Given the description of an element on the screen output the (x, y) to click on. 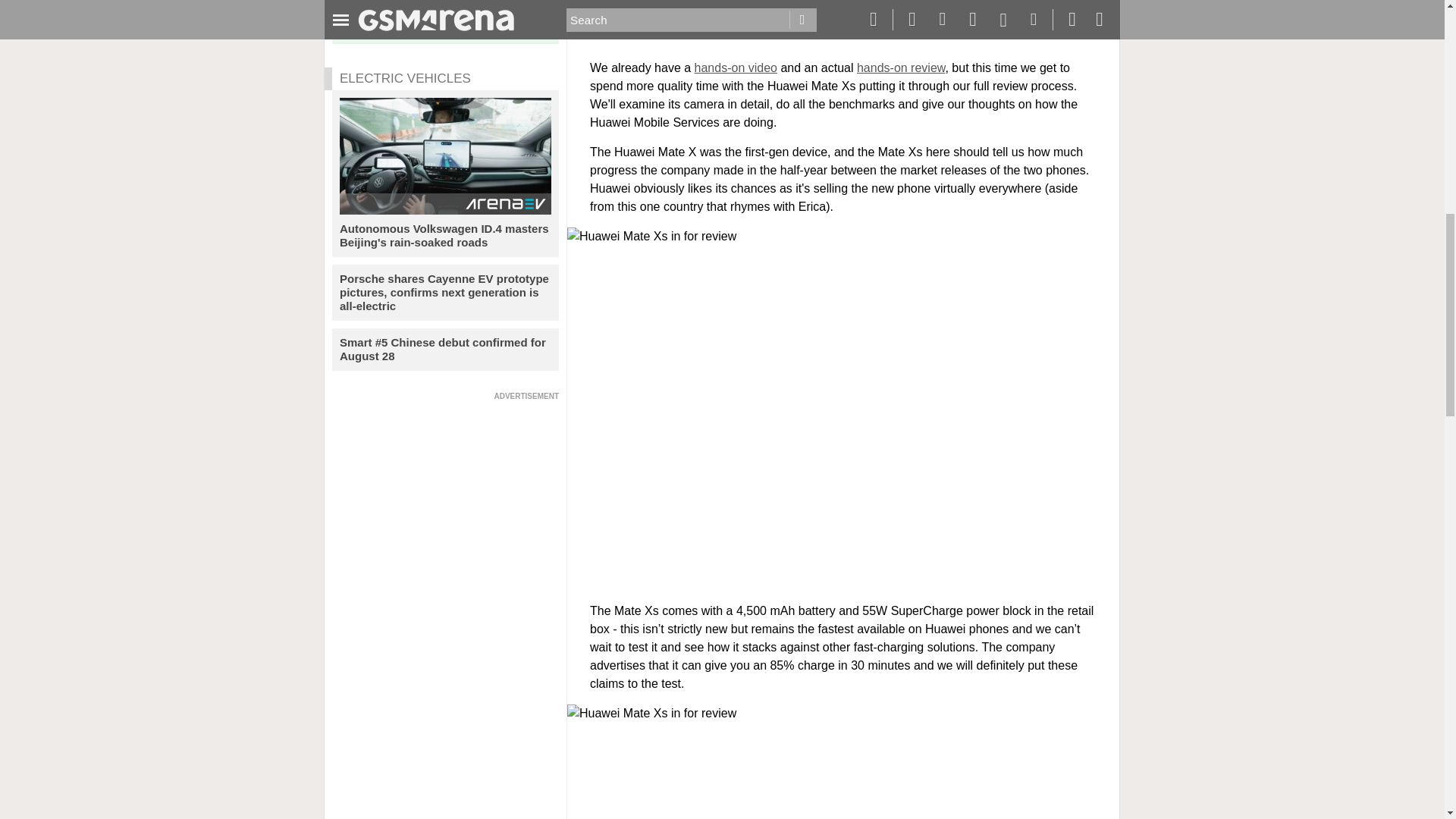
hands-on video (735, 67)
hands-on review (900, 67)
